Given the description of an element on the screen output the (x, y) to click on. 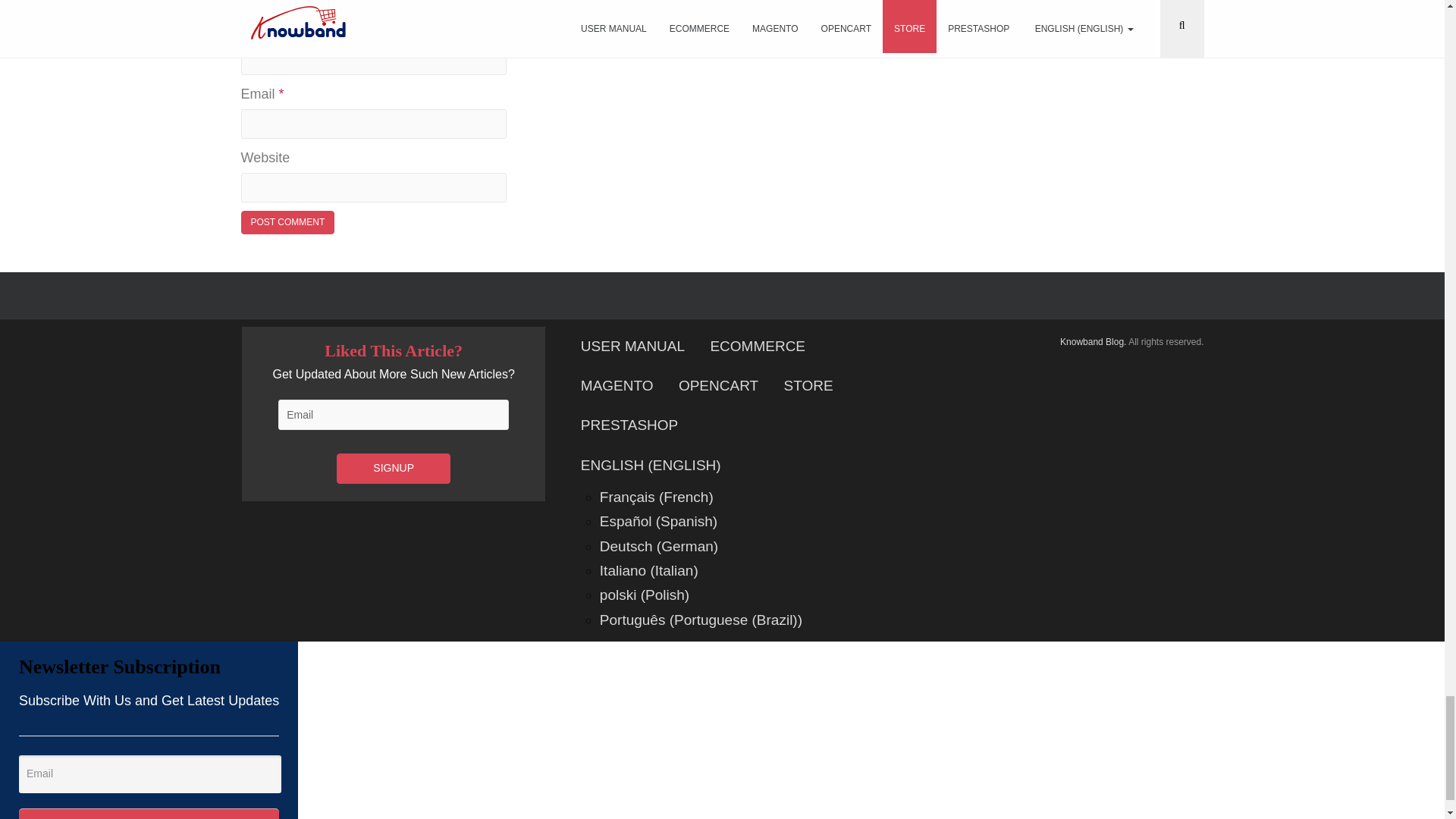
Knowband Blog (1093, 341)
Email (149, 774)
Polish (643, 594)
English (685, 465)
German (658, 546)
SIGNUP (392, 468)
Email (393, 414)
French (656, 496)
Spanish (658, 521)
Italian (648, 570)
